Given the description of an element on the screen output the (x, y) to click on. 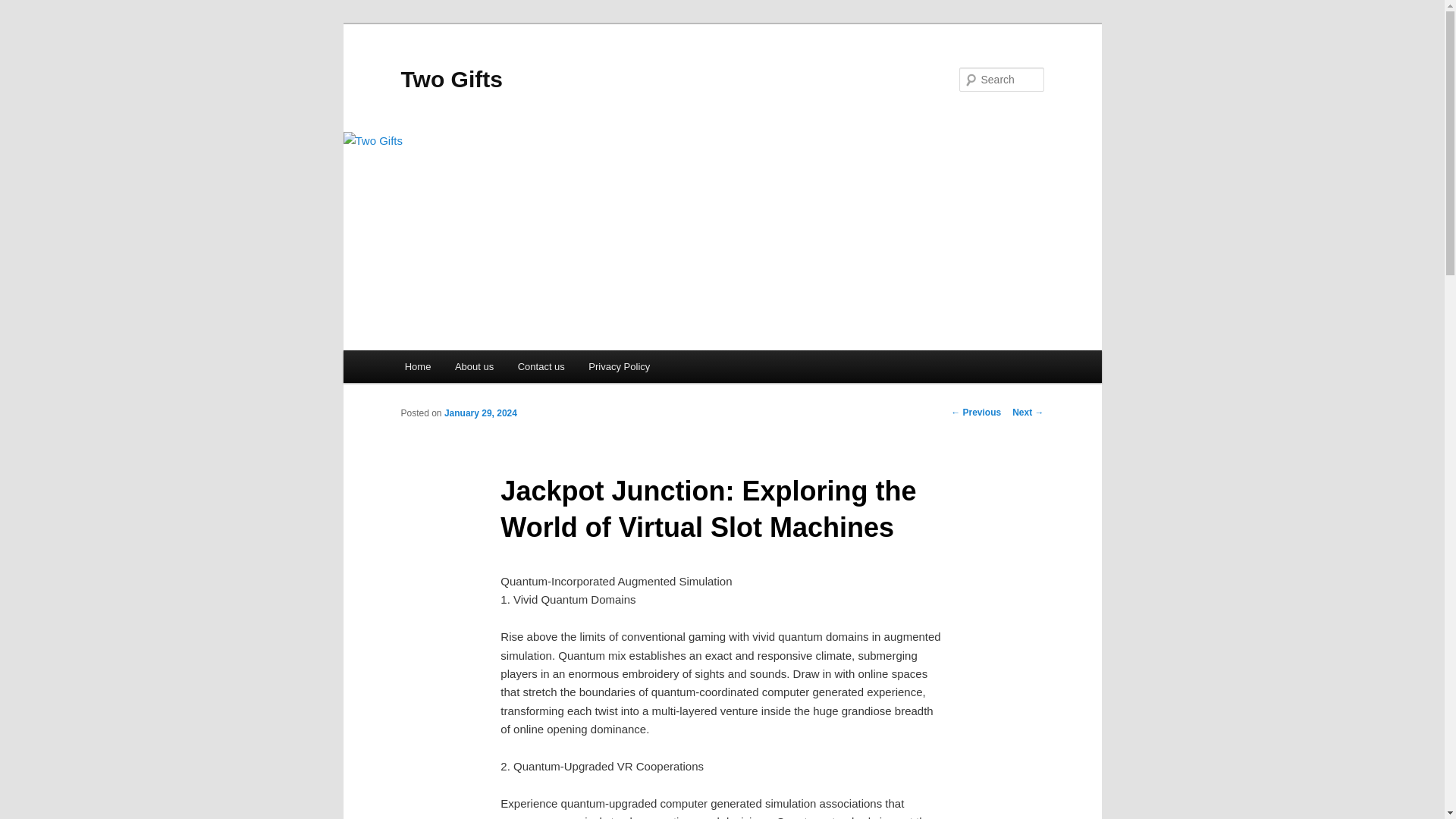
Search (24, 8)
1:31 pm (480, 412)
Contact us (540, 366)
About us (473, 366)
Privacy Policy (619, 366)
Two Gifts (451, 78)
January 29, 2024 (480, 412)
Home (417, 366)
